Given the description of an element on the screen output the (x, y) to click on. 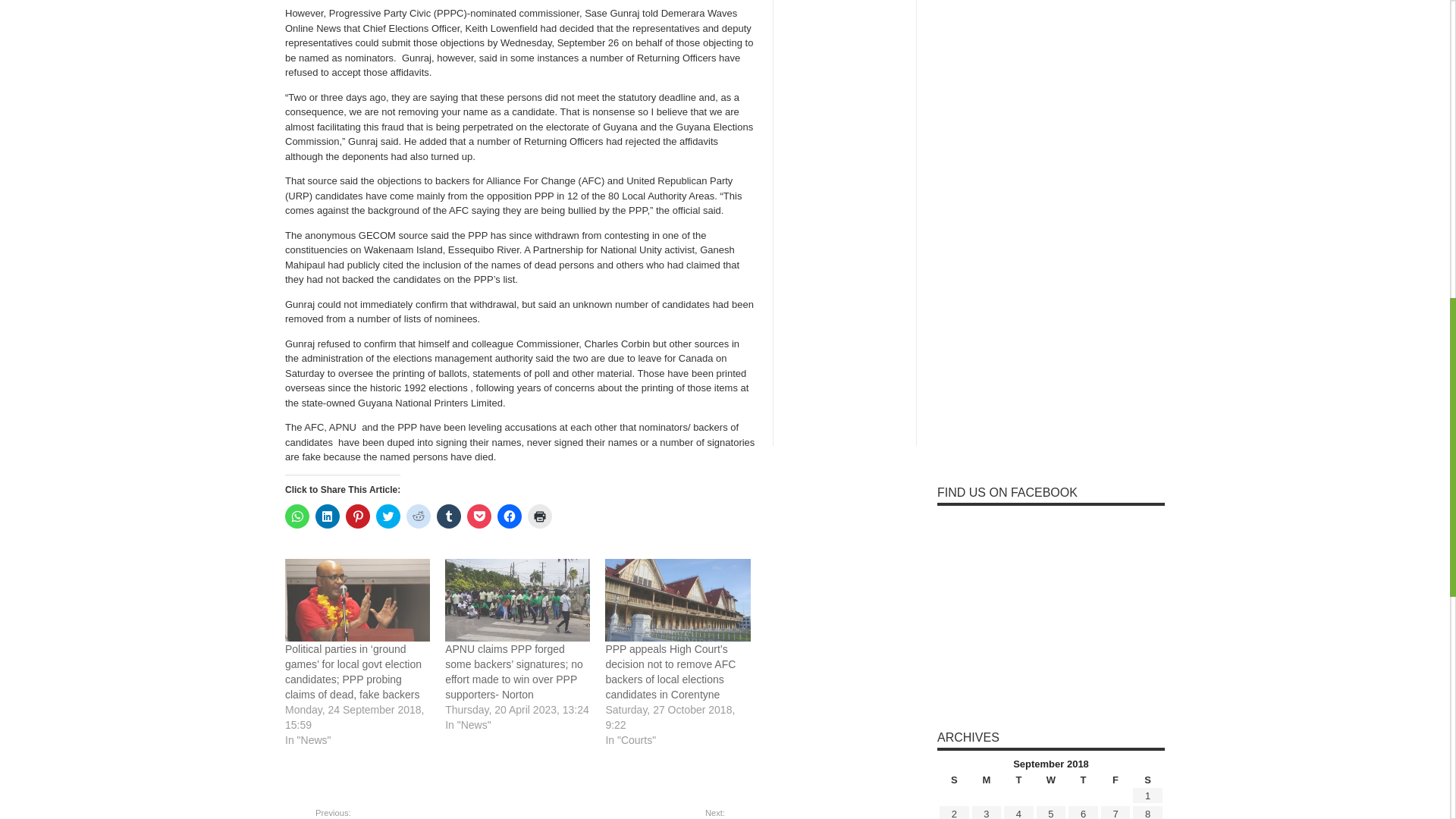
Click to share on LinkedIn (327, 516)
Click to share on Twitter (387, 516)
Click to share on Pocket (479, 516)
Click to share on Reddit (418, 516)
Click to print (539, 516)
Click to share on Facebook (509, 516)
Click to share on Tumblr (448, 516)
Click to share on WhatsApp (296, 516)
Click to share on Pinterest (357, 516)
